Given the description of an element on the screen output the (x, y) to click on. 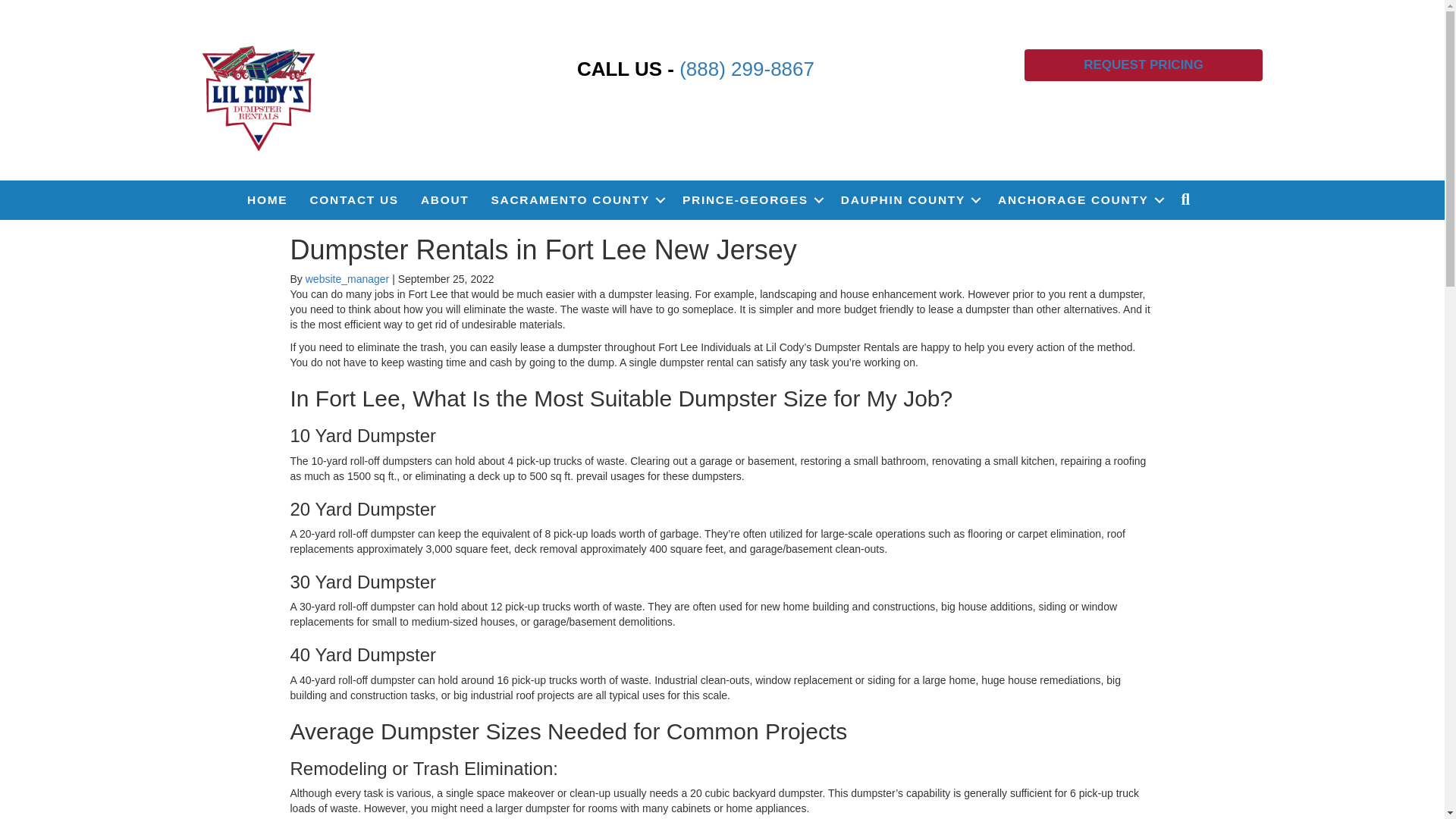
SACRAMENTO COUNTY (575, 199)
CONTACT US (353, 199)
REQUEST PRICING (1144, 65)
ABOUT (445, 199)
ANCHORAGE COUNTY (1078, 199)
DAUPHIN COUNTY (908, 199)
HOME (266, 199)
Skip to content (34, 6)
PRINCE-GEORGES (750, 199)
lilcodysdumpsters (258, 95)
